Given the description of an element on the screen output the (x, y) to click on. 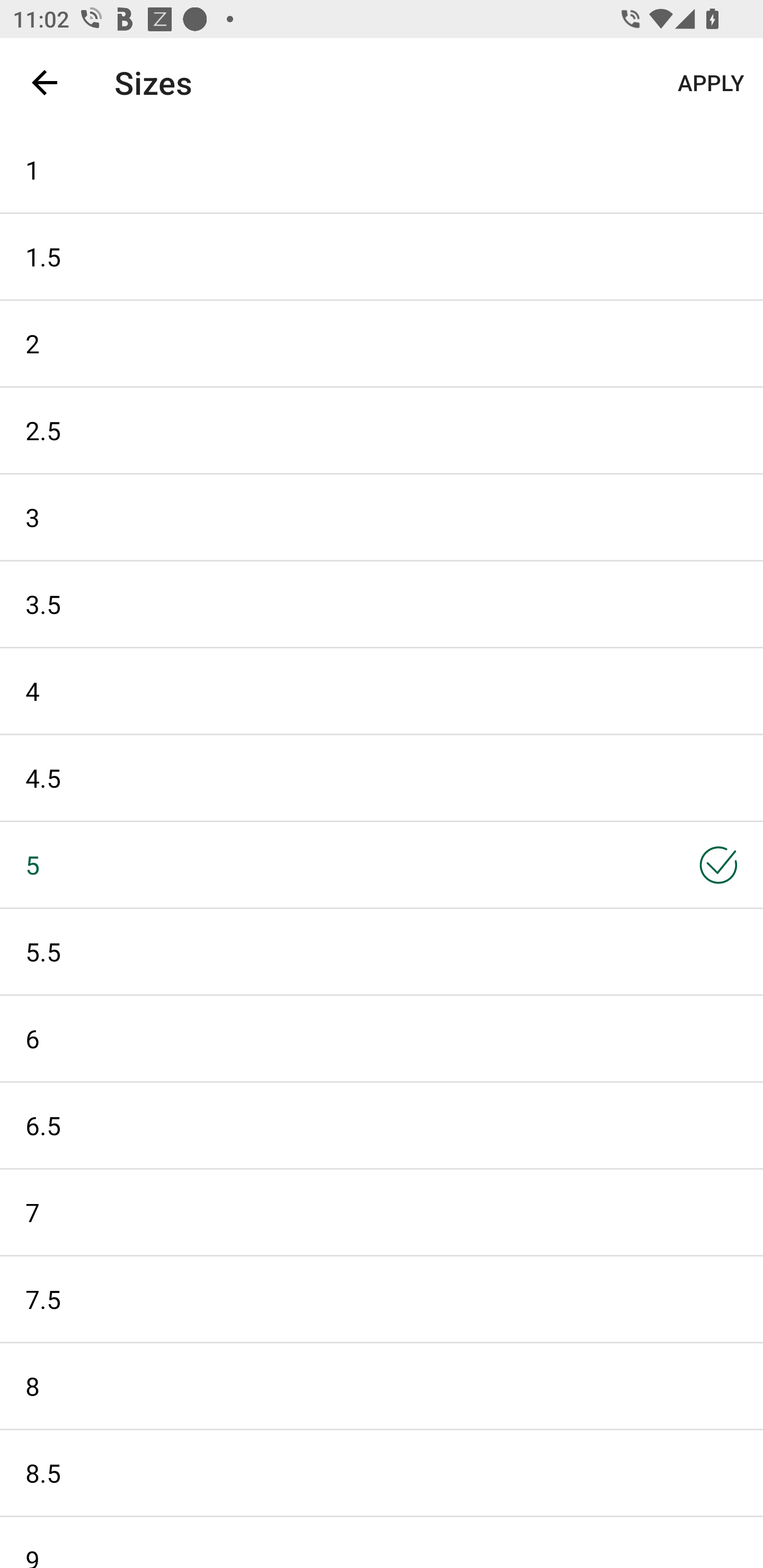
heels (370, 82)
1 (381, 169)
1.5 (381, 256)
2 (381, 343)
2.5 (381, 430)
3 (381, 517)
3.5 (381, 603)
4 (381, 691)
4.5 (381, 777)
5 Next (381, 864)
5.5 (381, 951)
6 (381, 1038)
6.5 (381, 1125)
7 (381, 1211)
7.5 (381, 1298)
8 (381, 1385)
8.5 (381, 1473)
9 (381, 1542)
